Given the description of an element on the screen output the (x, y) to click on. 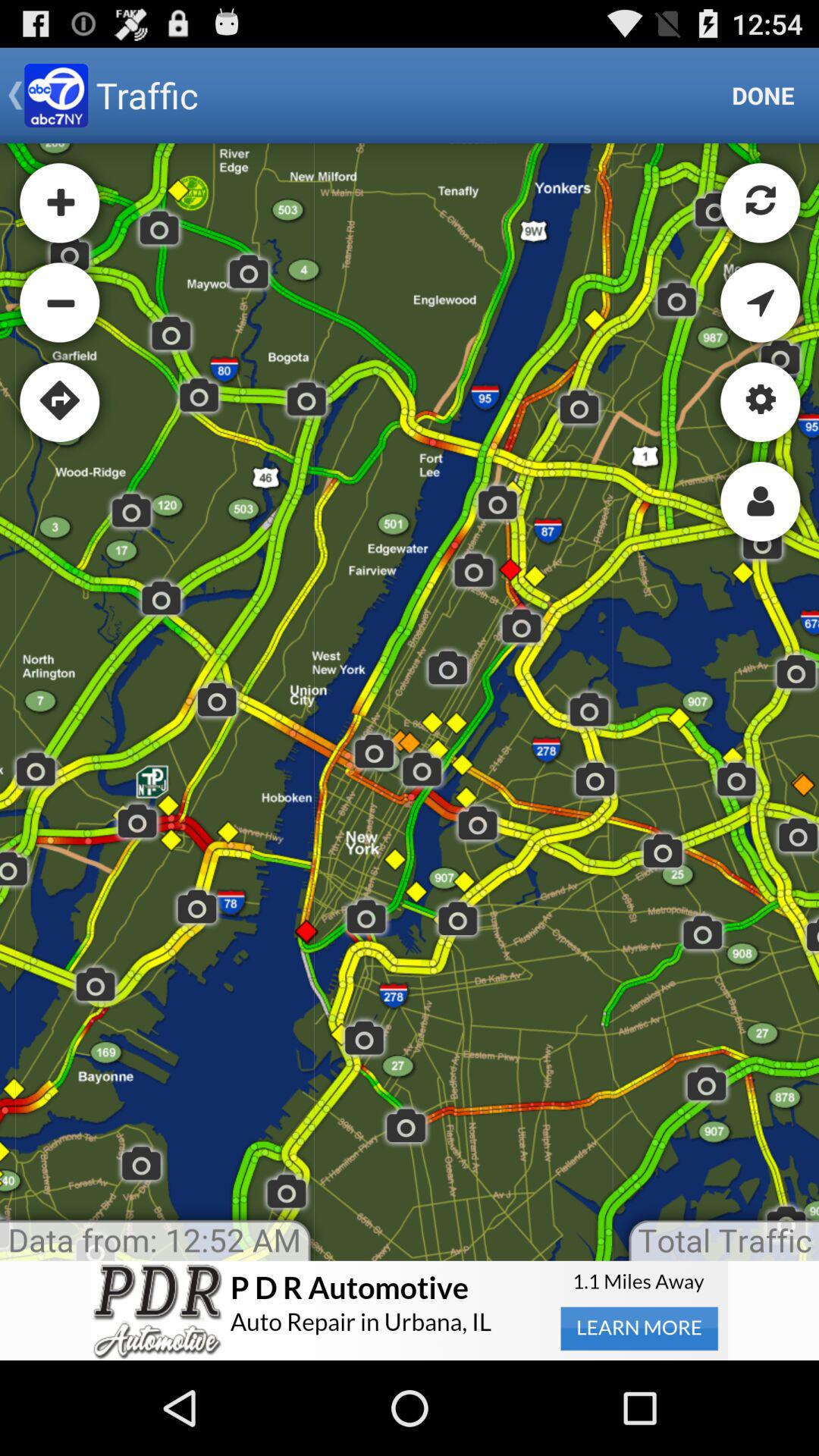
advertisement page (409, 1310)
